Given the description of an element on the screen output the (x, y) to click on. 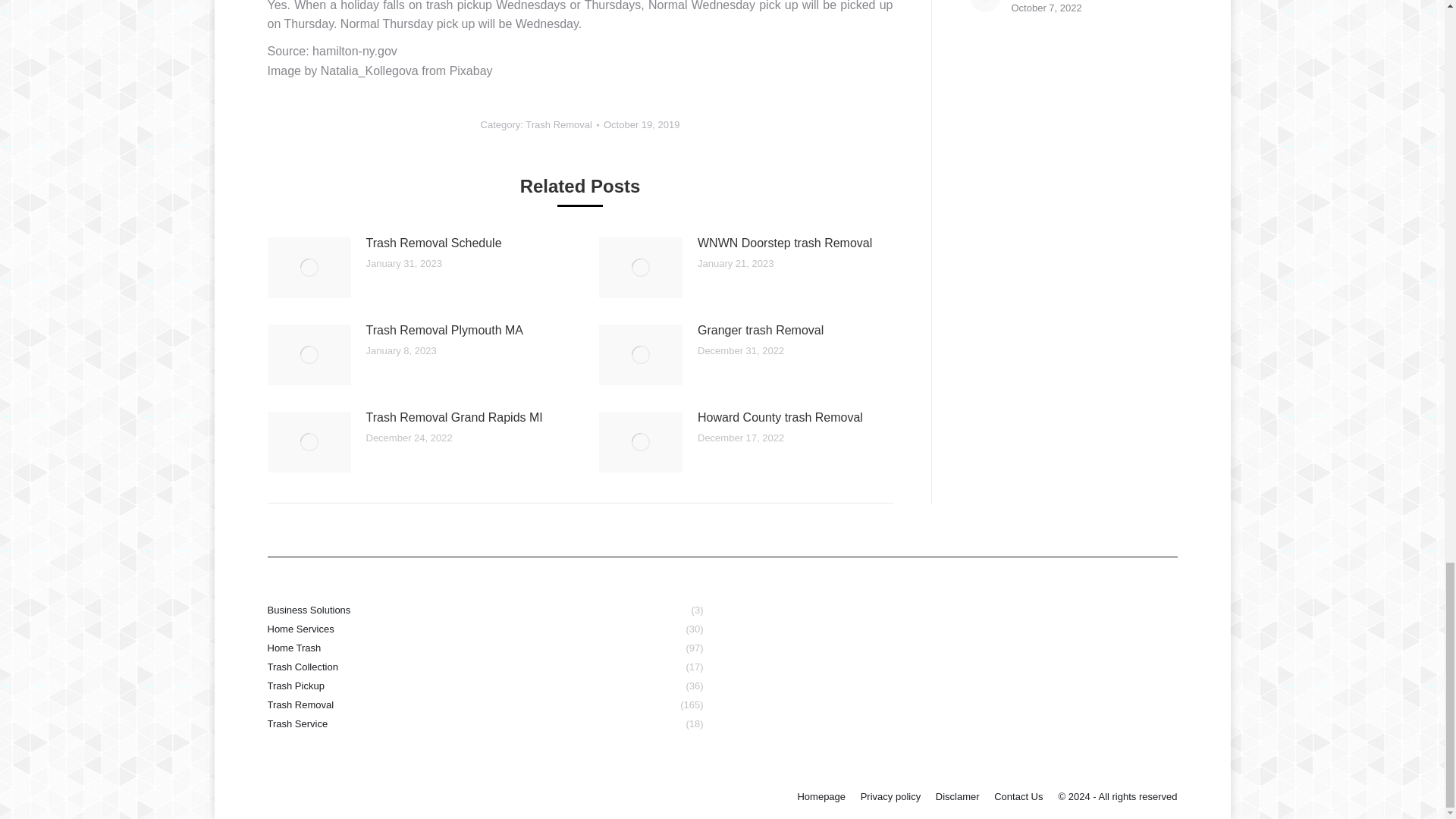
October 19, 2019 (641, 124)
WNWN Doorstep trash Removal (784, 243)
Howard County trash Removal (780, 417)
Trash Removal Plymouth MA (443, 330)
Trash Removal Grand Rapids MI (453, 417)
Trash Removal Schedule (432, 243)
Trash Removal (558, 124)
3:42 pm (641, 124)
Granger trash Removal (760, 330)
